Given the description of an element on the screen output the (x, y) to click on. 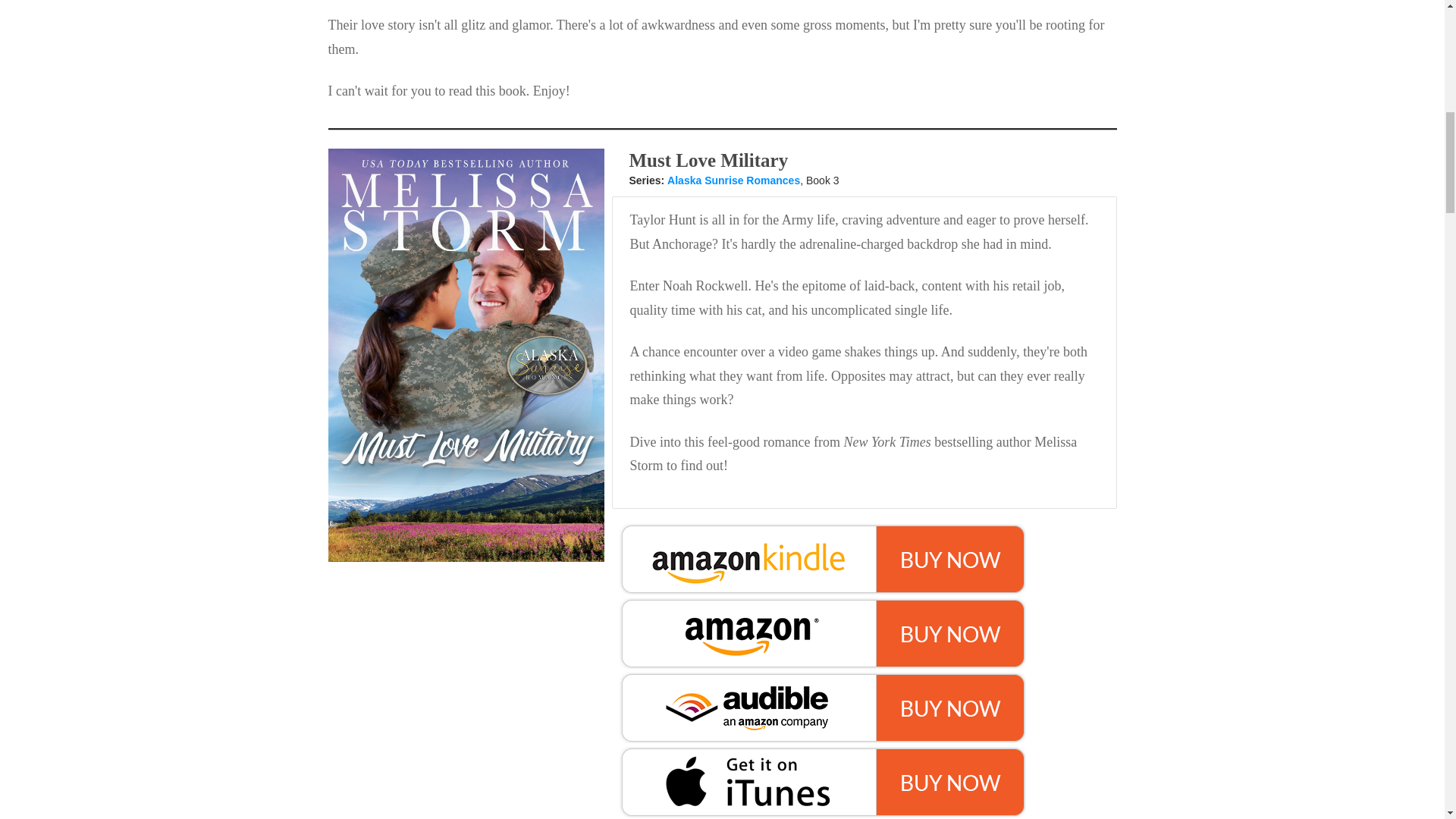
Alaska Sunrise Romances (732, 180)
